Given the description of an element on the screen output the (x, y) to click on. 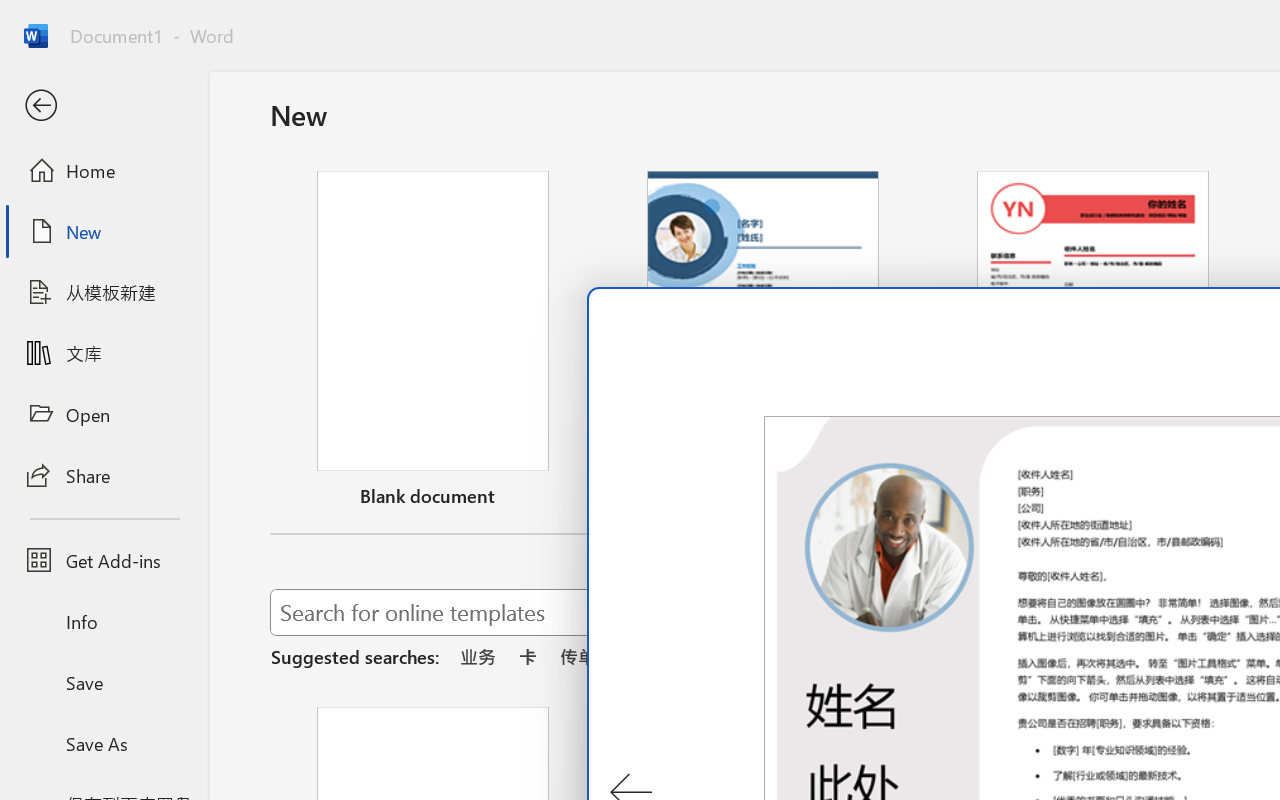
Google Play logo (111, 132)
Apps (321, 132)
Kids (385, 132)
Google Workspace Admin Community (89, 22)
Currencies - Google Finance (509, 22)
Sign in - Google Accounts (823, 22)
Privacy Checkup (1138, 22)
PDD Holdings Inc - ADR (PDD) Price & News - Google Finance (718, 22)
More info about this content rating (1005, 754)
Miniclip.com (671, 651)
